Given the description of an element on the screen output the (x, y) to click on. 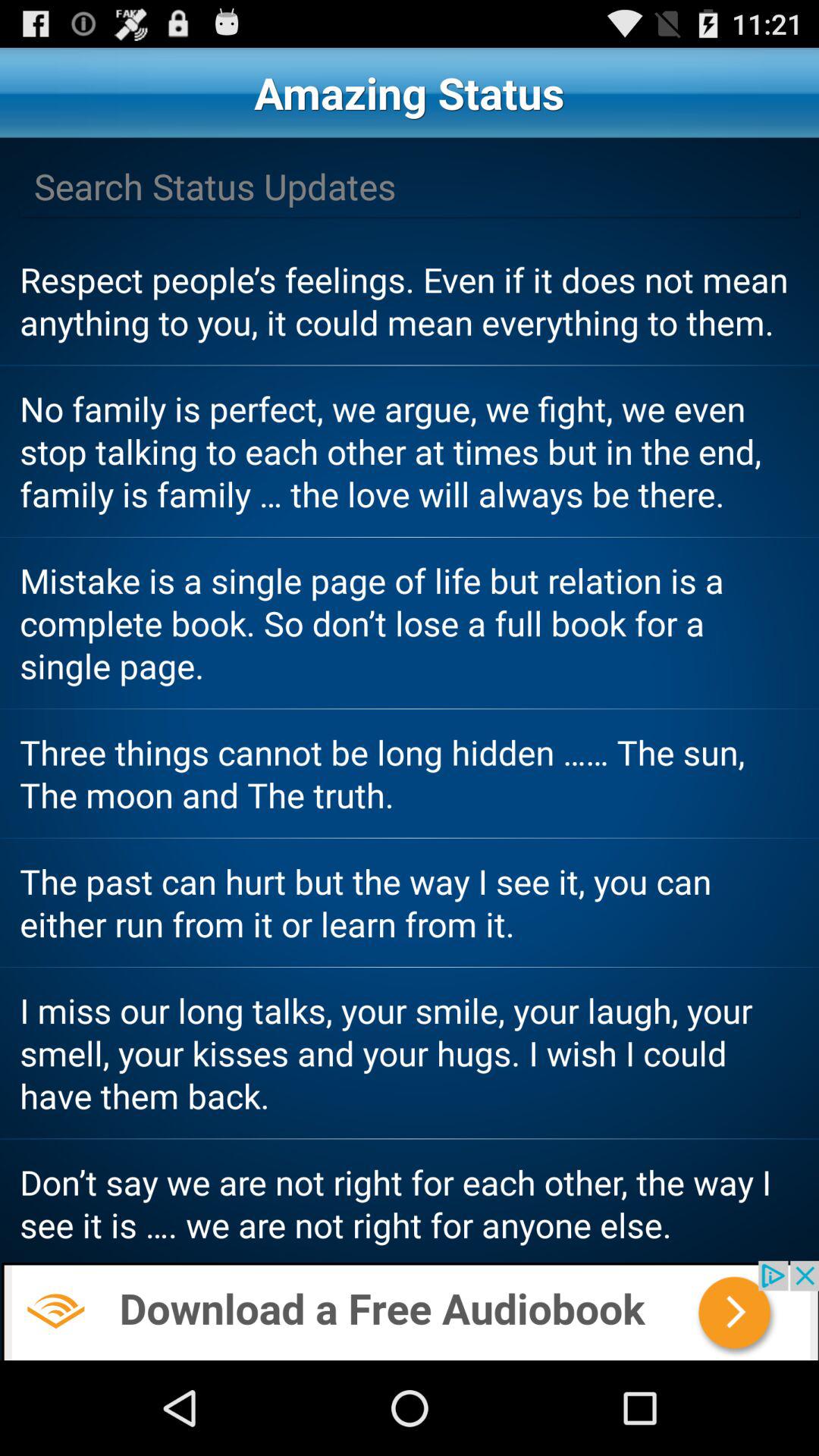
advertisement (409, 1310)
